Given the description of an element on the screen output the (x, y) to click on. 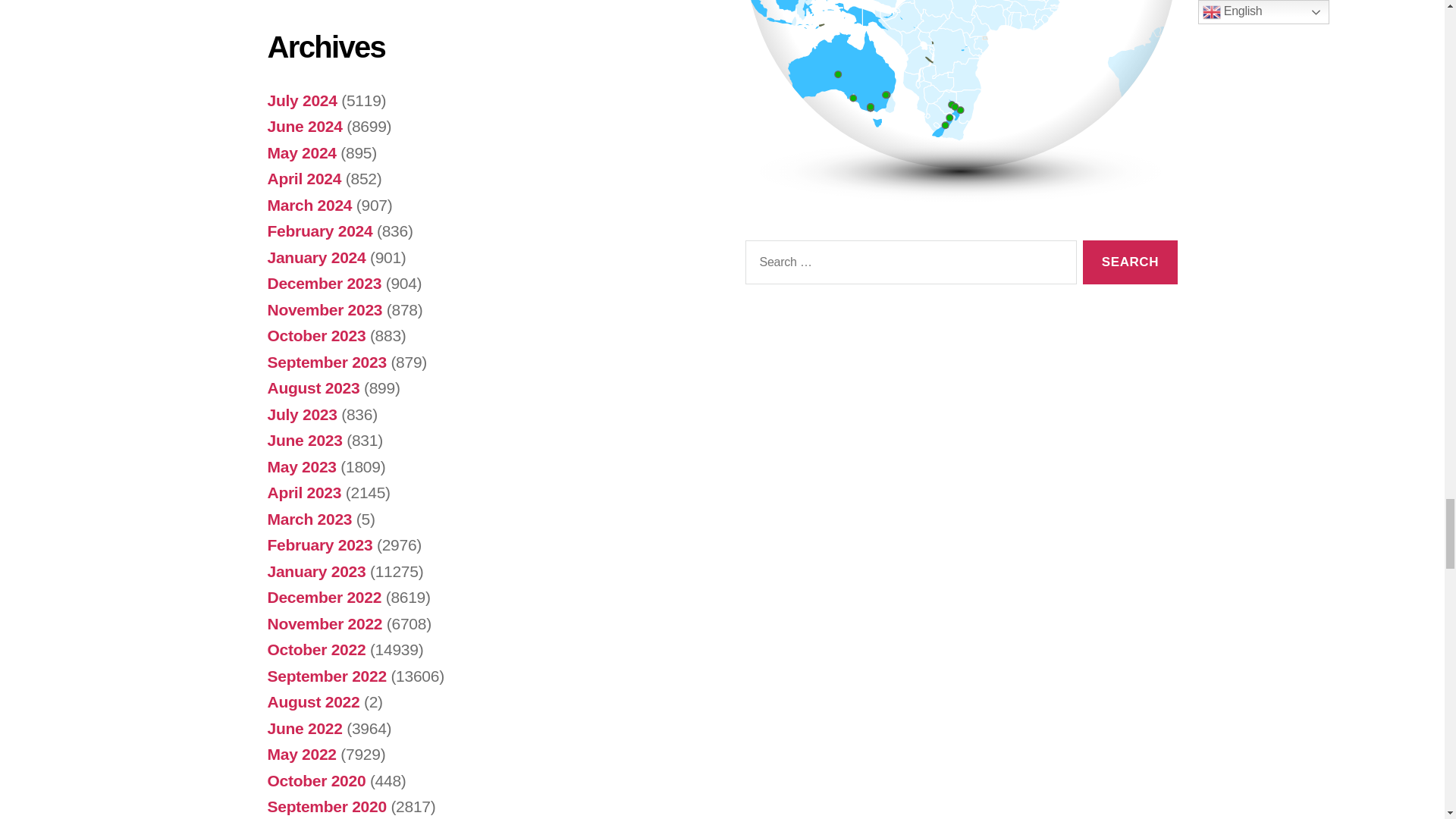
Search (1129, 262)
Search (1129, 262)
